Given the description of an element on the screen output the (x, y) to click on. 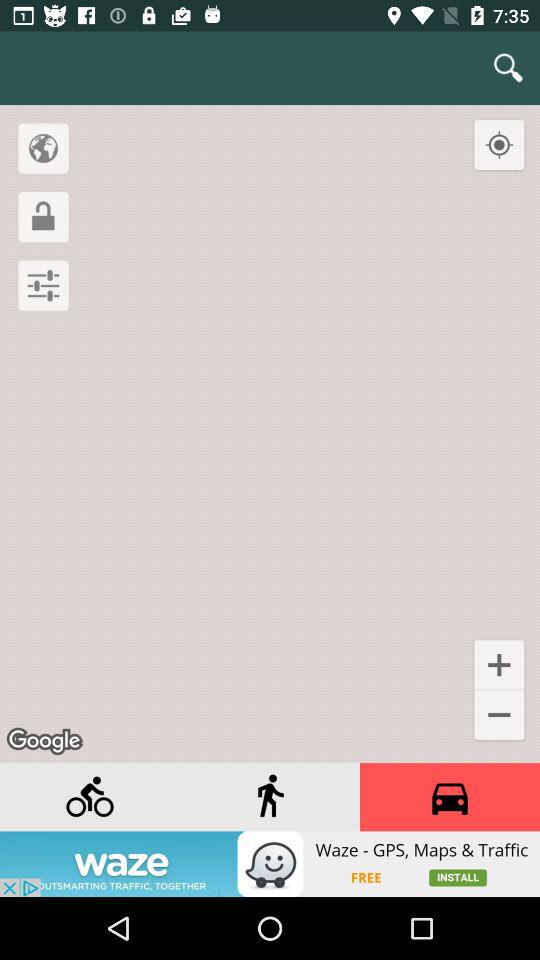
navigate the earth globe (43, 148)
